Given the description of an element on the screen output the (x, y) to click on. 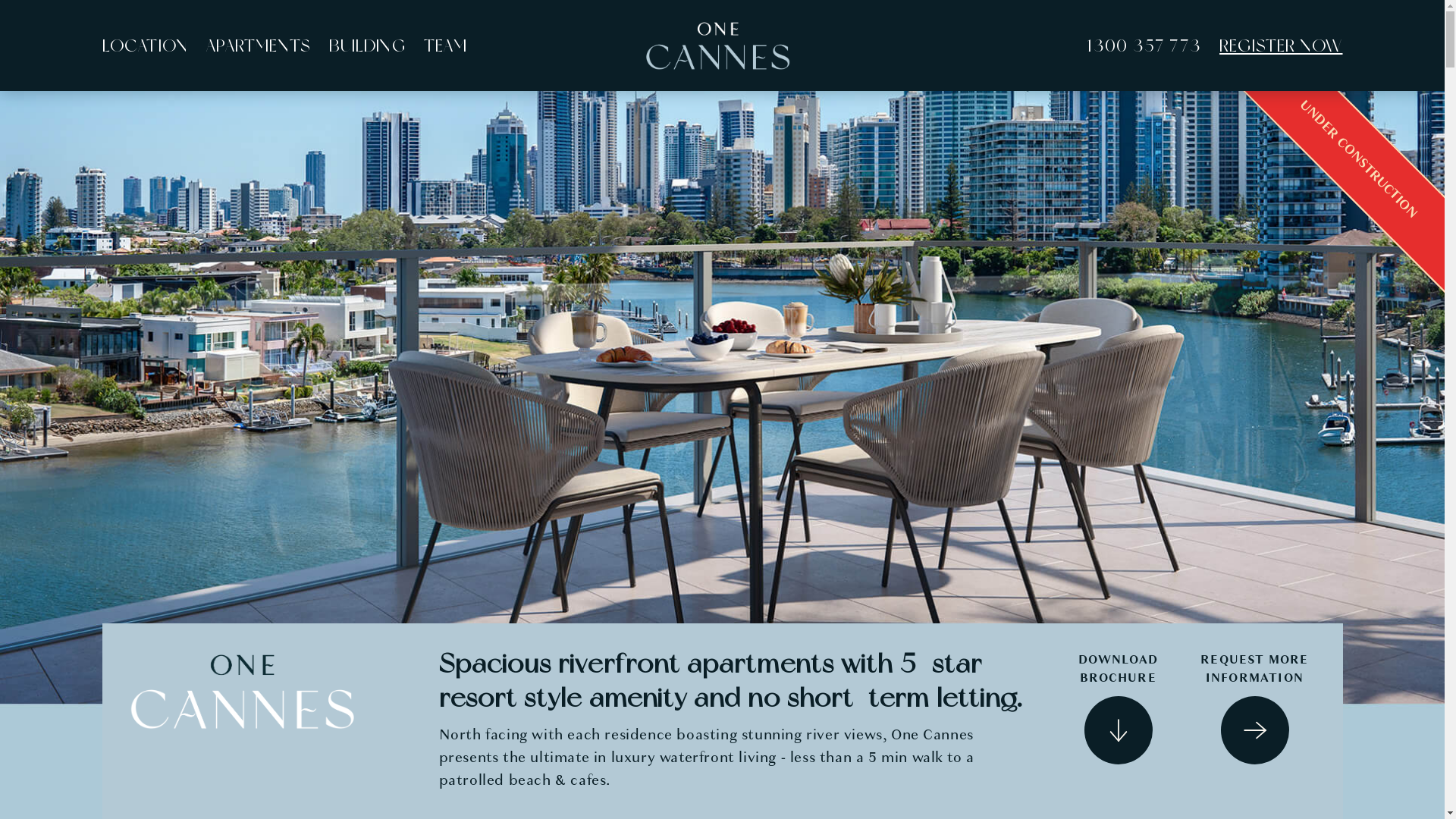
APARTMENTS Element type: text (258, 45)
TEAM Element type: text (445, 45)
REGISTER NOW Element type: text (1280, 45)
REQUEST MORE
INFORMATION Element type: text (1253, 707)
BUILDING Element type: text (367, 45)
LOCATION Element type: text (144, 45)
DOWNLOAD
BROCHURE Element type: text (1117, 707)
1300 357 773 Element type: text (1143, 45)
